Given the description of an element on the screen output the (x, y) to click on. 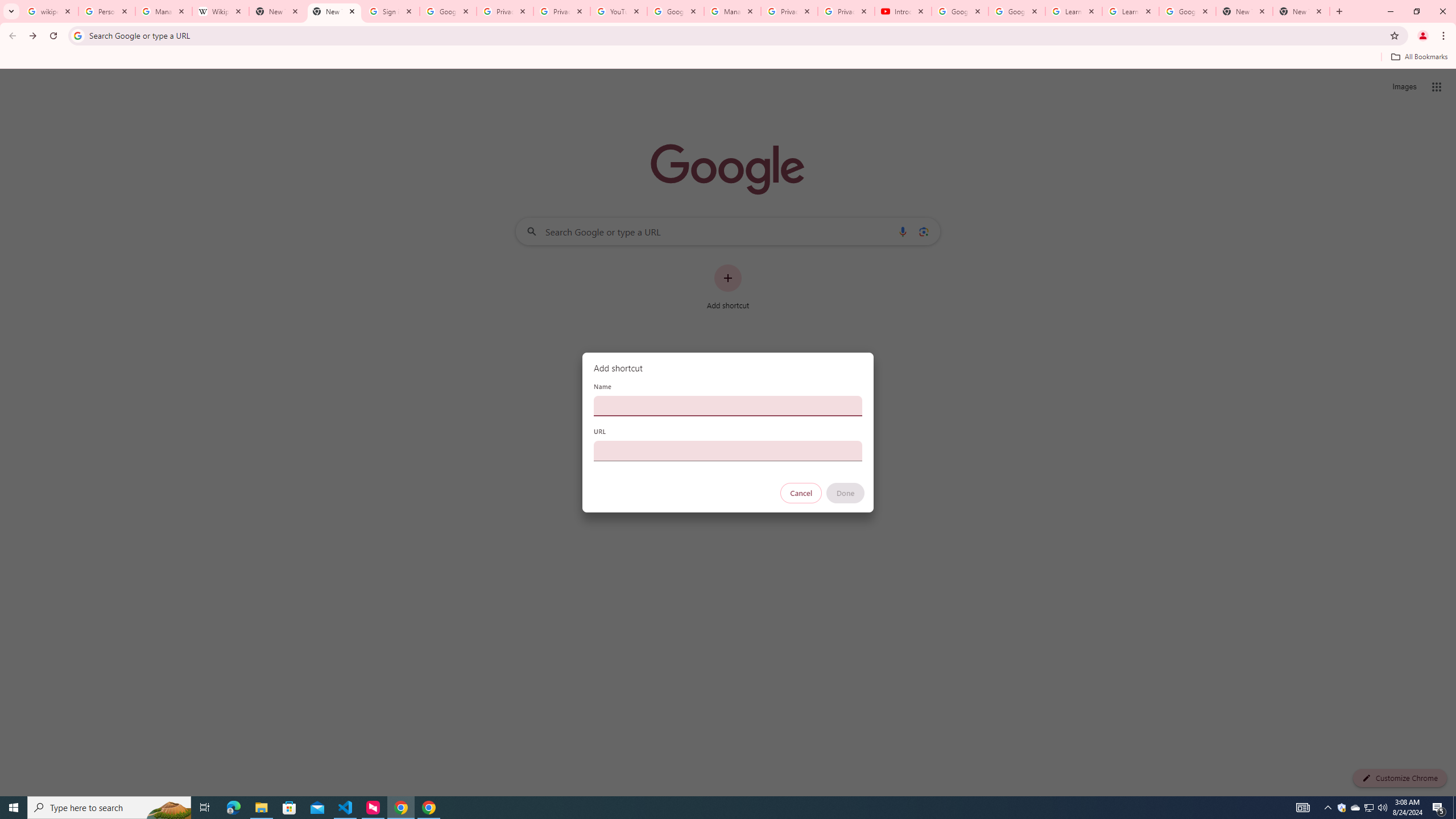
New Tab (1244, 11)
Cancel (801, 493)
Done (845, 493)
Introduction | Google Privacy Policy - YouTube (902, 11)
Name (727, 405)
